Given the description of an element on the screen output the (x, y) to click on. 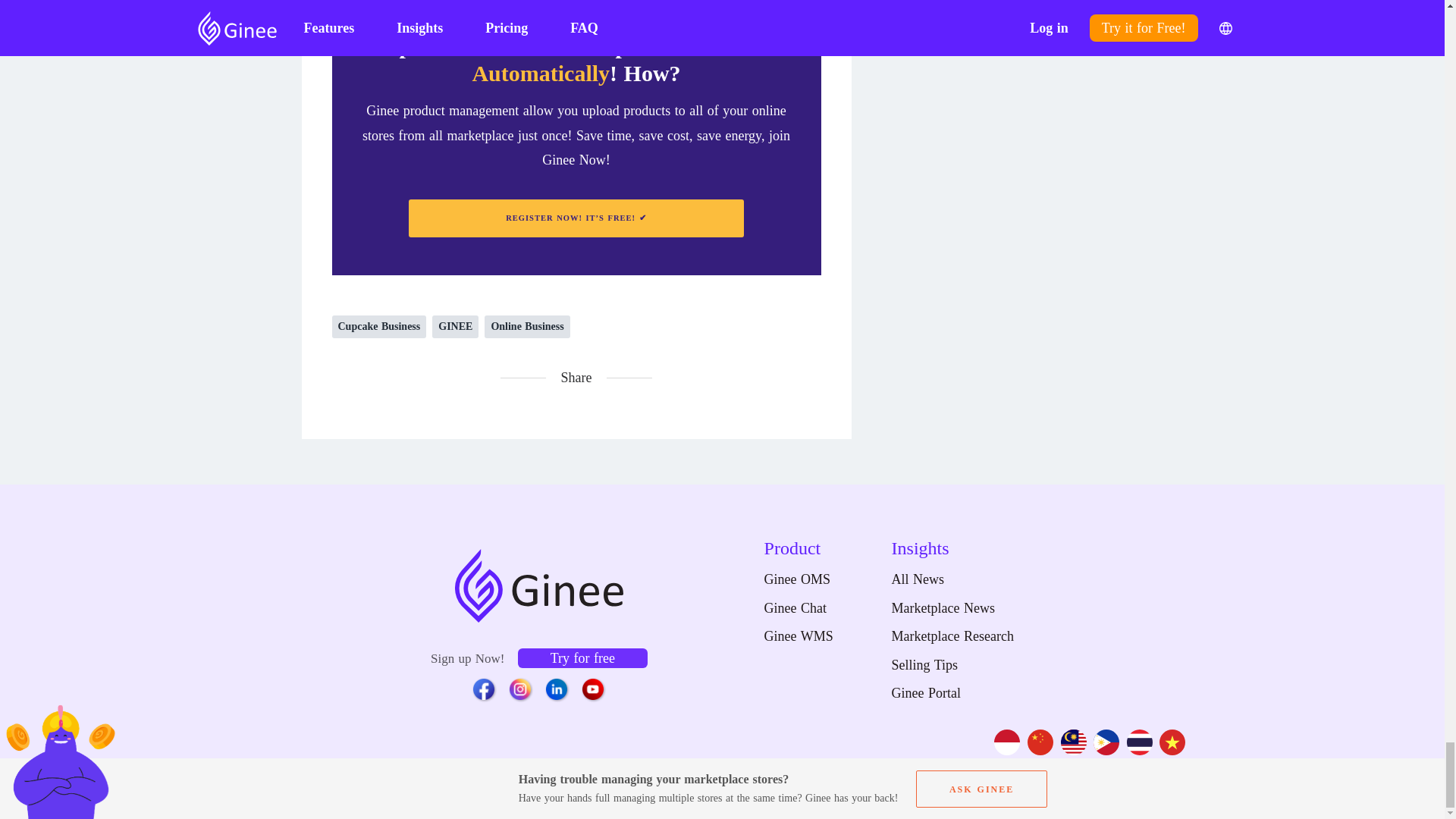
Online Business (526, 326)
All News (952, 579)
Cupcake Business (378, 326)
Marketplace Research (952, 636)
GINEE (455, 326)
Marketplace News (952, 608)
